Given the description of an element on the screen output the (x, y) to click on. 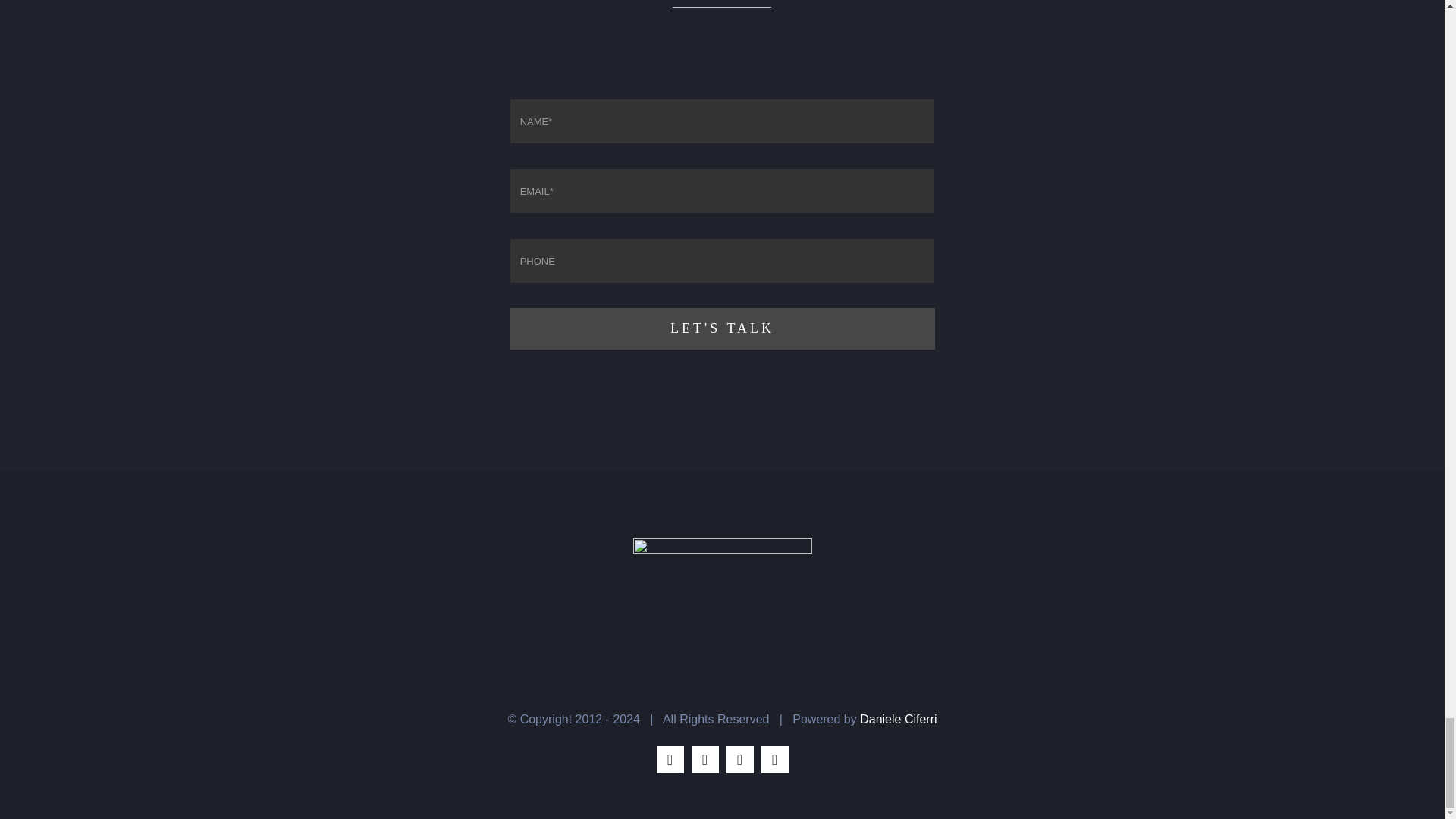
Instagram (740, 759)
Daniele Ciferri (898, 718)
Instagram (740, 759)
Only numbers and phone characters are accepted. (722, 260)
Twitter (705, 759)
YouTube (775, 759)
Facebook (670, 759)
Twitter (705, 759)
YouTube (775, 759)
LET'S TALK (722, 223)
Facebook (670, 759)
LET'S TALK (722, 328)
